Given the description of an element on the screen output the (x, y) to click on. 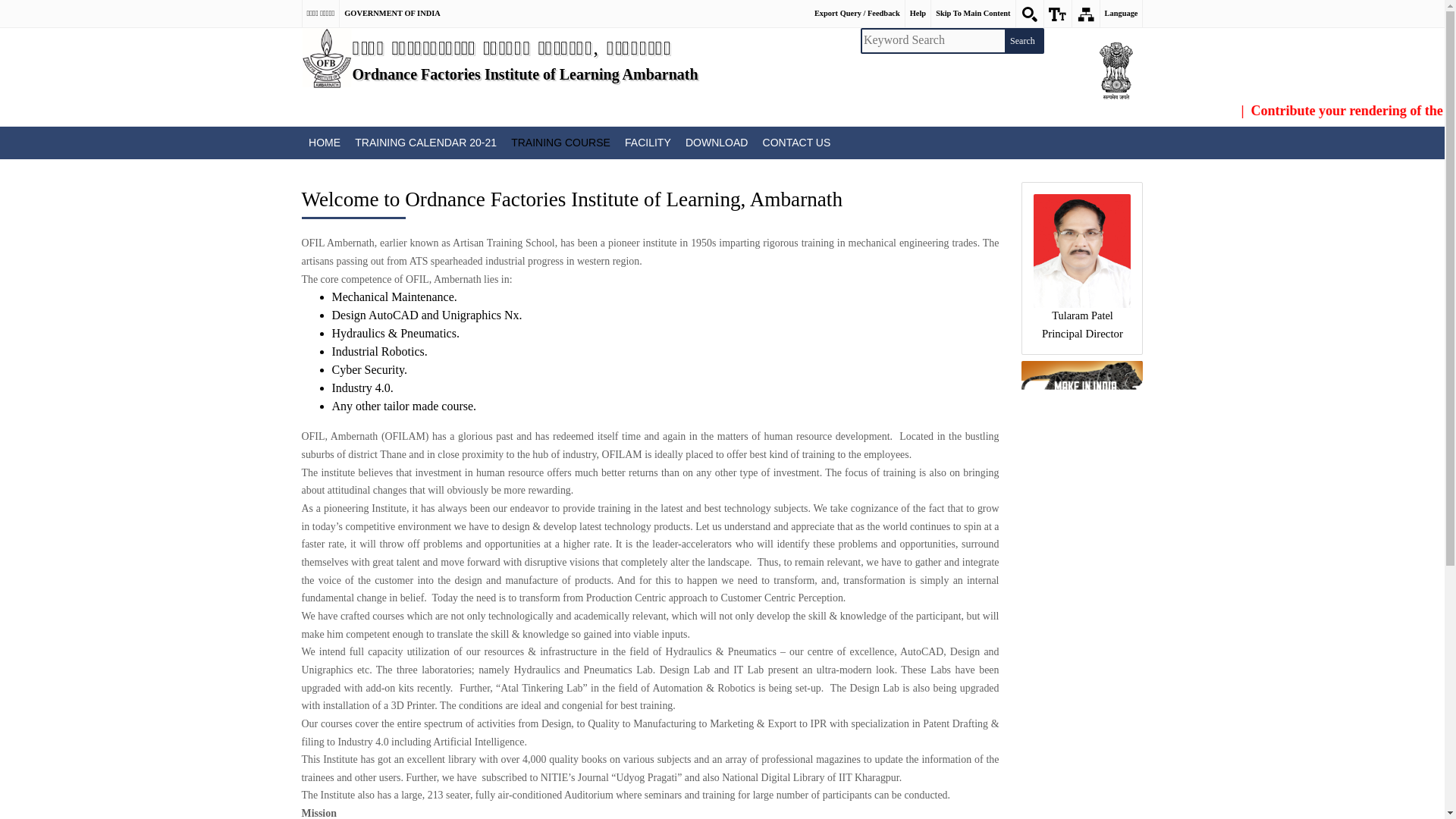
HOME (324, 142)
Skip to main content (972, 13)
GOVERNMENT OF INDIA (391, 13)
Sitemap (1085, 13)
Search  (1023, 40)
Language (1121, 13)
TRAINING CALENDAR 20-21 (425, 142)
Site Search (1029, 13)
Skip To Main Content (972, 13)
Select Language (1121, 13)
DOWNLOAD (716, 142)
FACILITY (647, 142)
Help (917, 13)
Help (917, 13)
Search  (1023, 40)
